Given the description of an element on the screen output the (x, y) to click on. 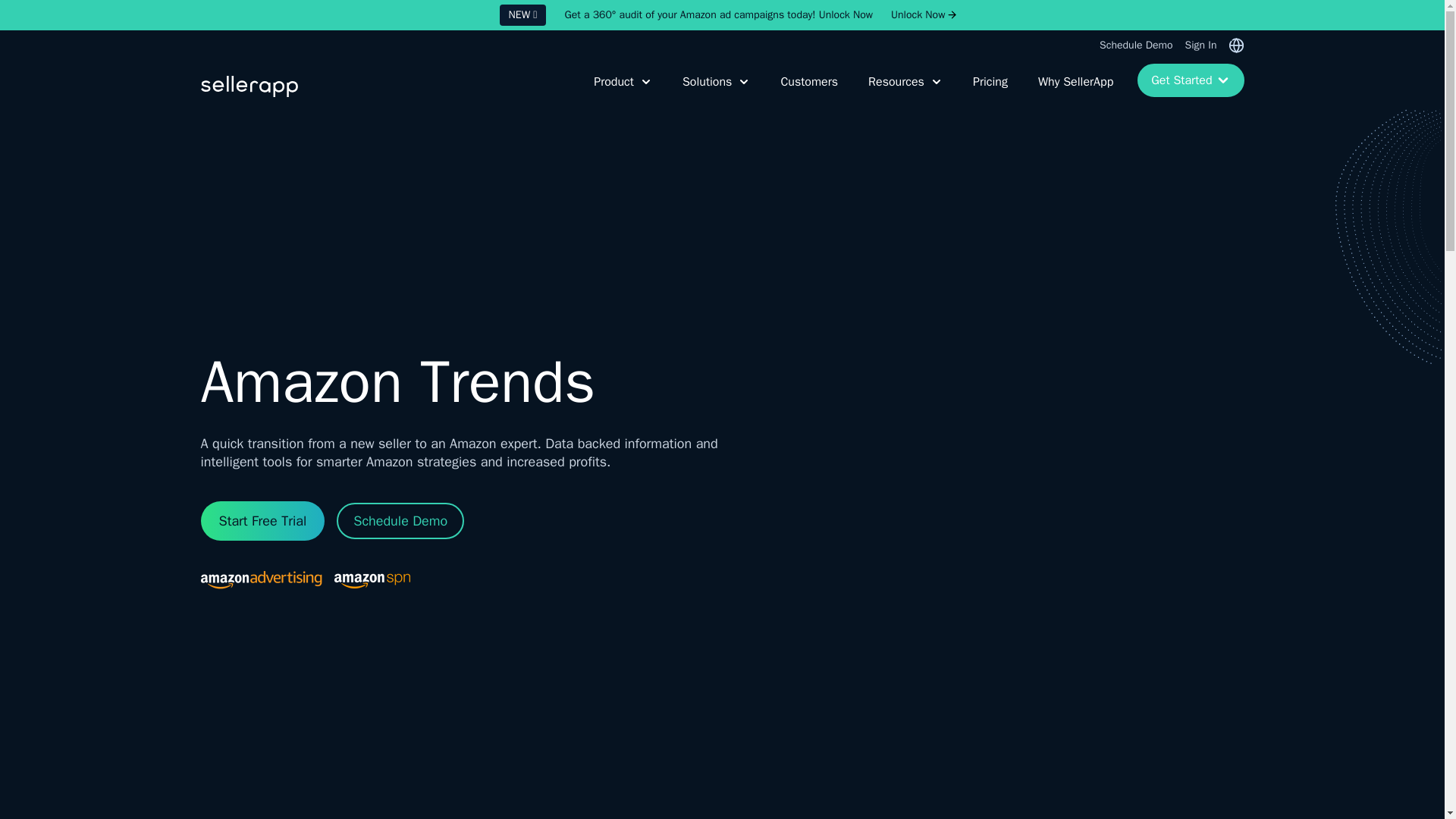
Unlock Now (917, 14)
Why SellerApp (1072, 90)
Start Free Trial (262, 520)
Solutions (713, 90)
Schedule Demo (400, 520)
Product (620, 90)
Resources (901, 90)
Customers (806, 90)
Get Started (1190, 80)
Schedule Demo (1135, 45)
